Given the description of an element on the screen output the (x, y) to click on. 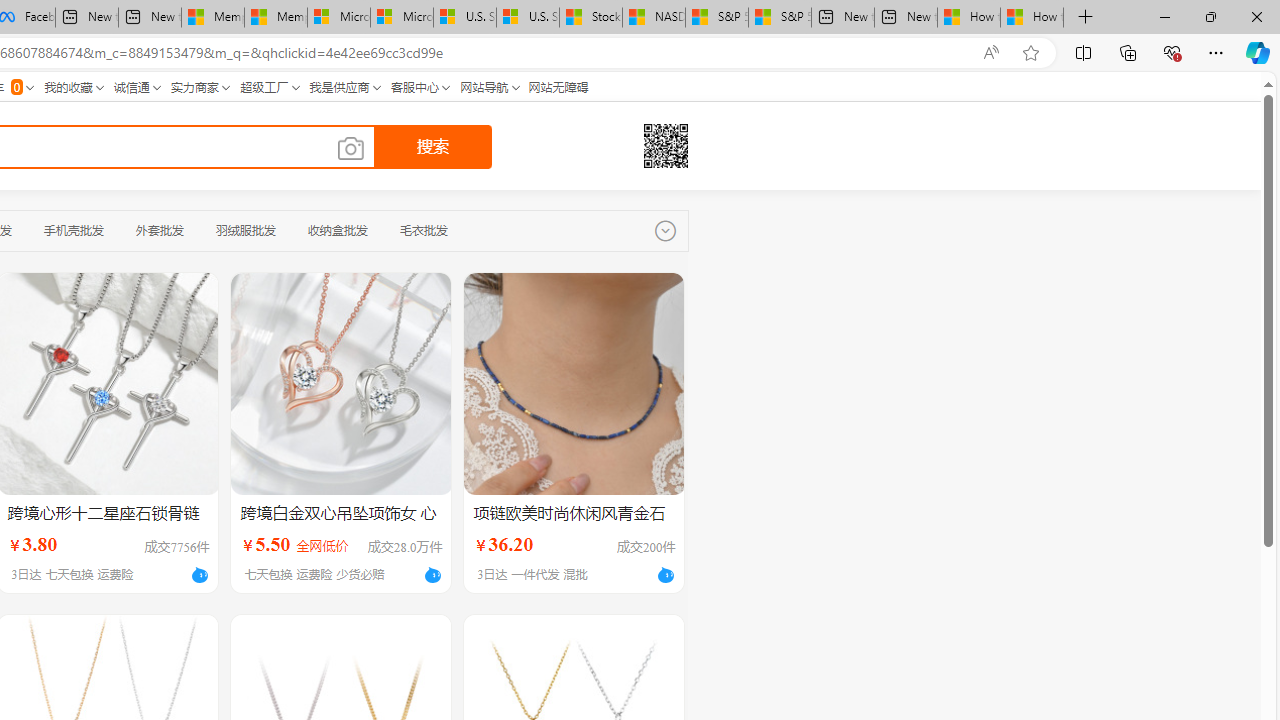
How to Use a Monitor With Your Closed Laptop (1032, 17)
S&P 500, Nasdaq end lower, weighed by Nvidia dip | Watch (779, 17)
